Given the description of an element on the screen output the (x, y) to click on. 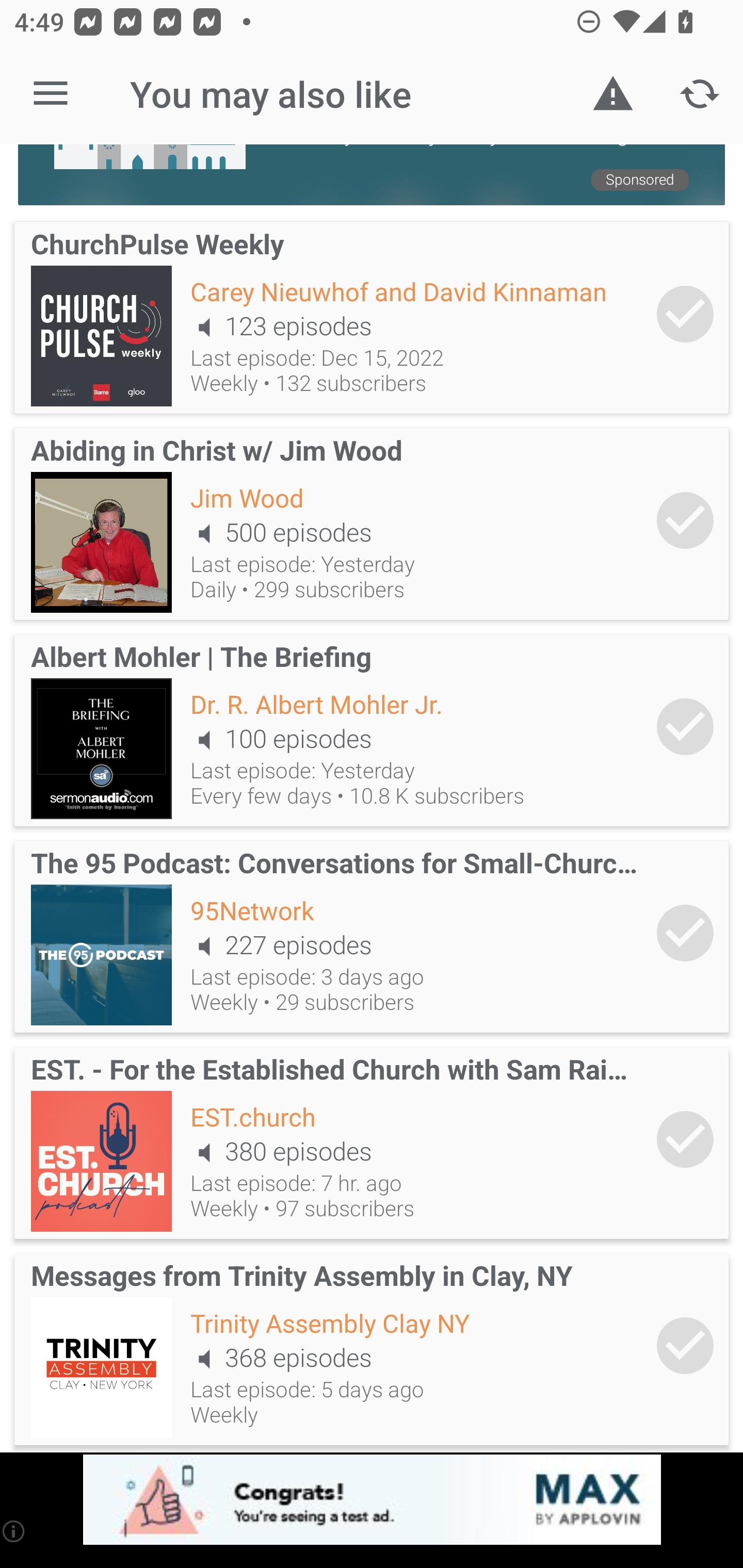
Open navigation sidebar (50, 93)
Report inappropriate content (612, 93)
Update top podcasts list (699, 93)
Add (684, 314)
Add (684, 520)
Add (684, 726)
Add (684, 932)
Add (684, 1139)
Add (684, 1346)
app-monetization (371, 1500)
(i) (14, 1531)
